Given the description of an element on the screen output the (x, y) to click on. 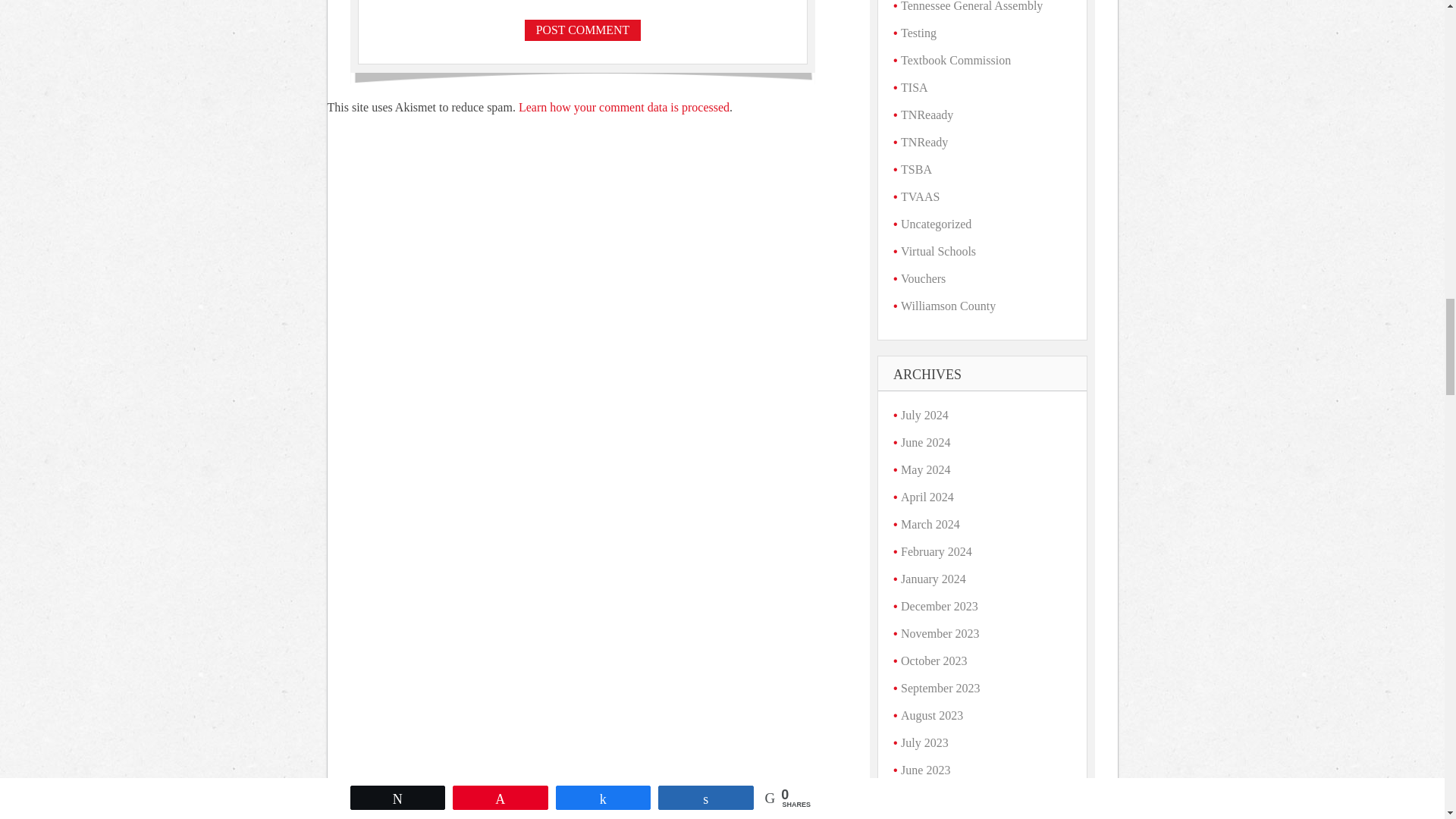
Post Comment (582, 29)
Learn how your comment data is processed (623, 106)
Post Comment (582, 29)
